Given the description of an element on the screen output the (x, y) to click on. 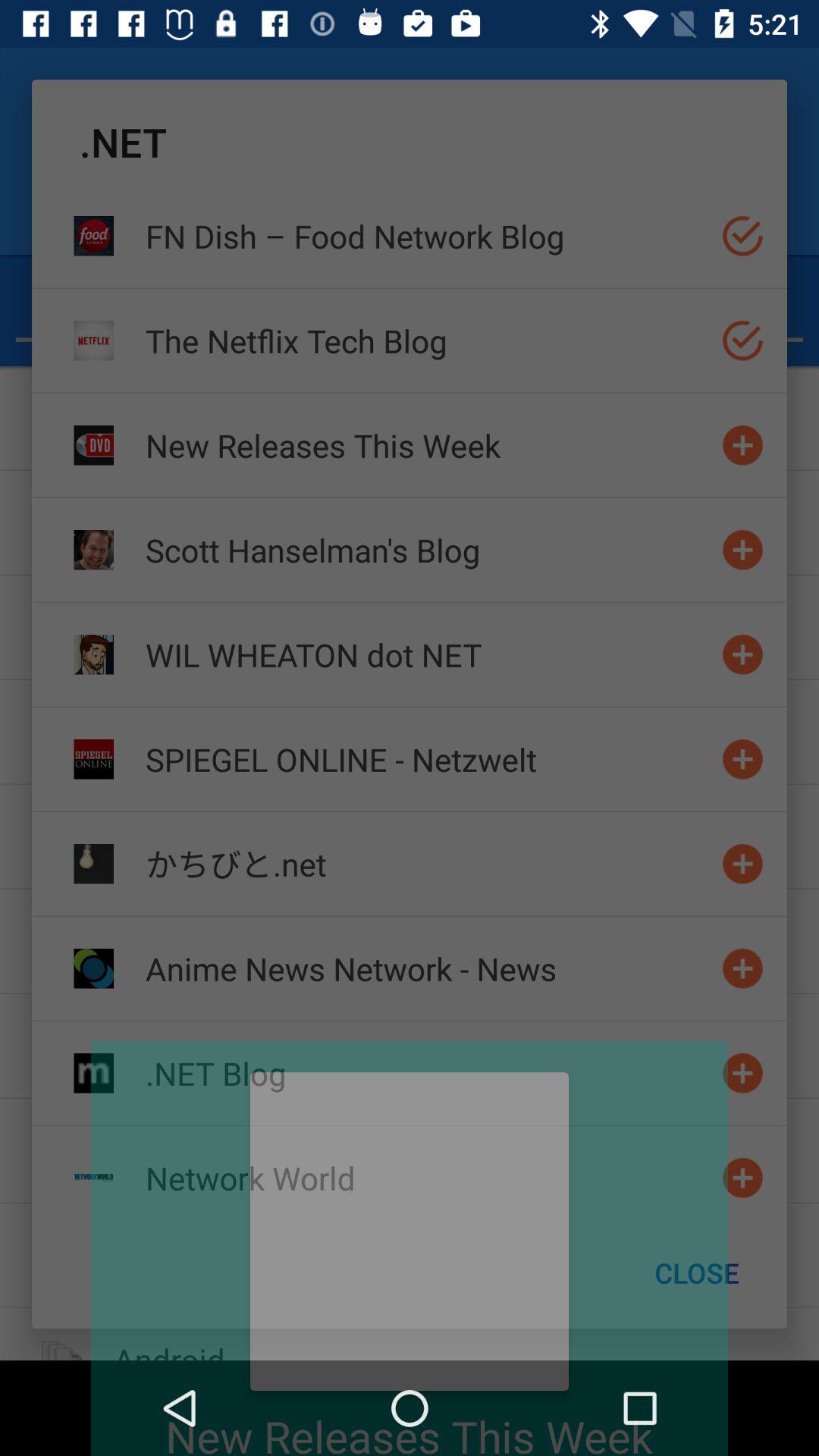
open drop down network menu (742, 1177)
